Given the description of an element on the screen output the (x, y) to click on. 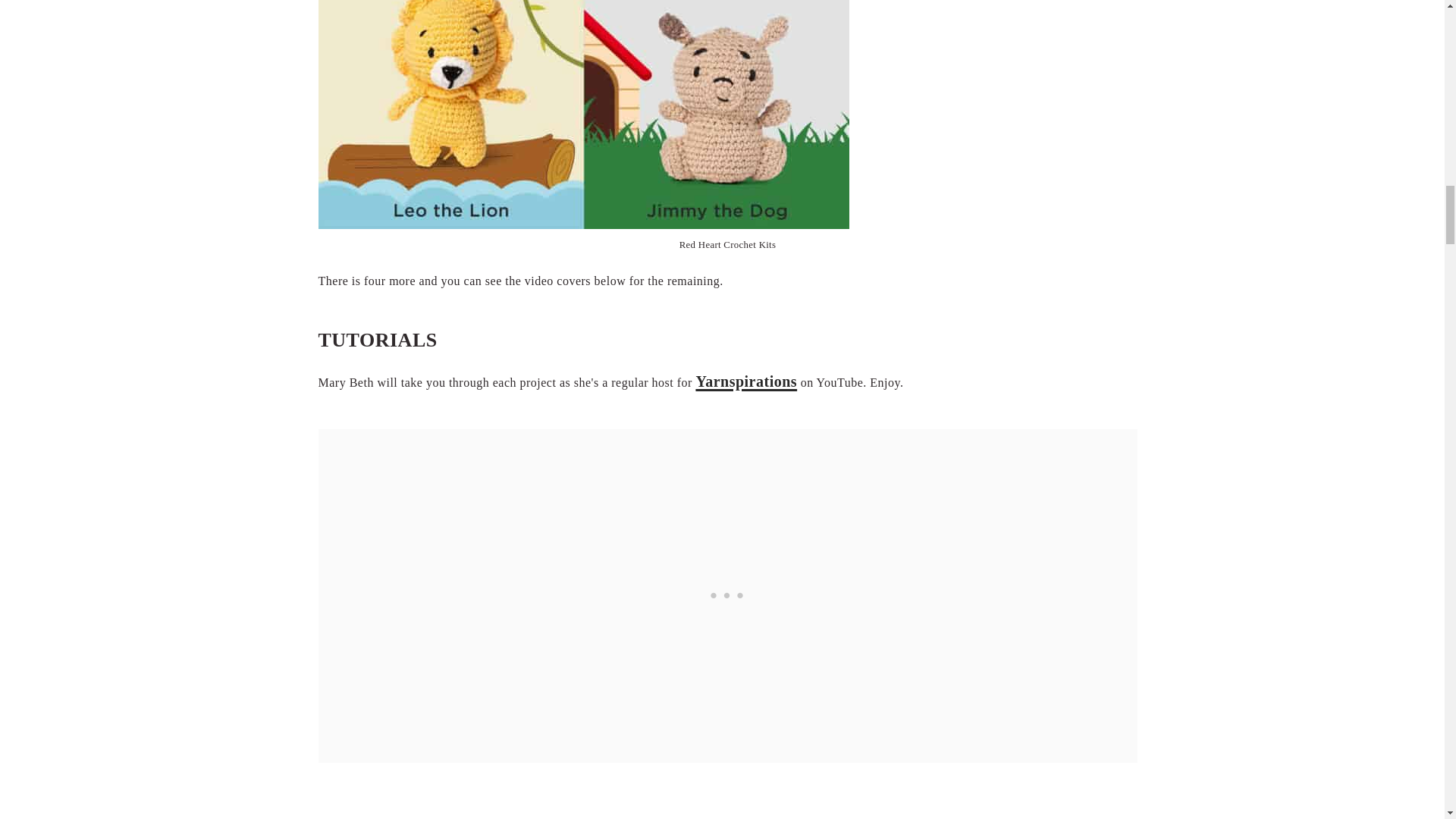
Red Heart Amigurumi How to Crochet Jimmy the Dog (727, 798)
Yarnspirations (745, 381)
